Given the description of an element on the screen output the (x, y) to click on. 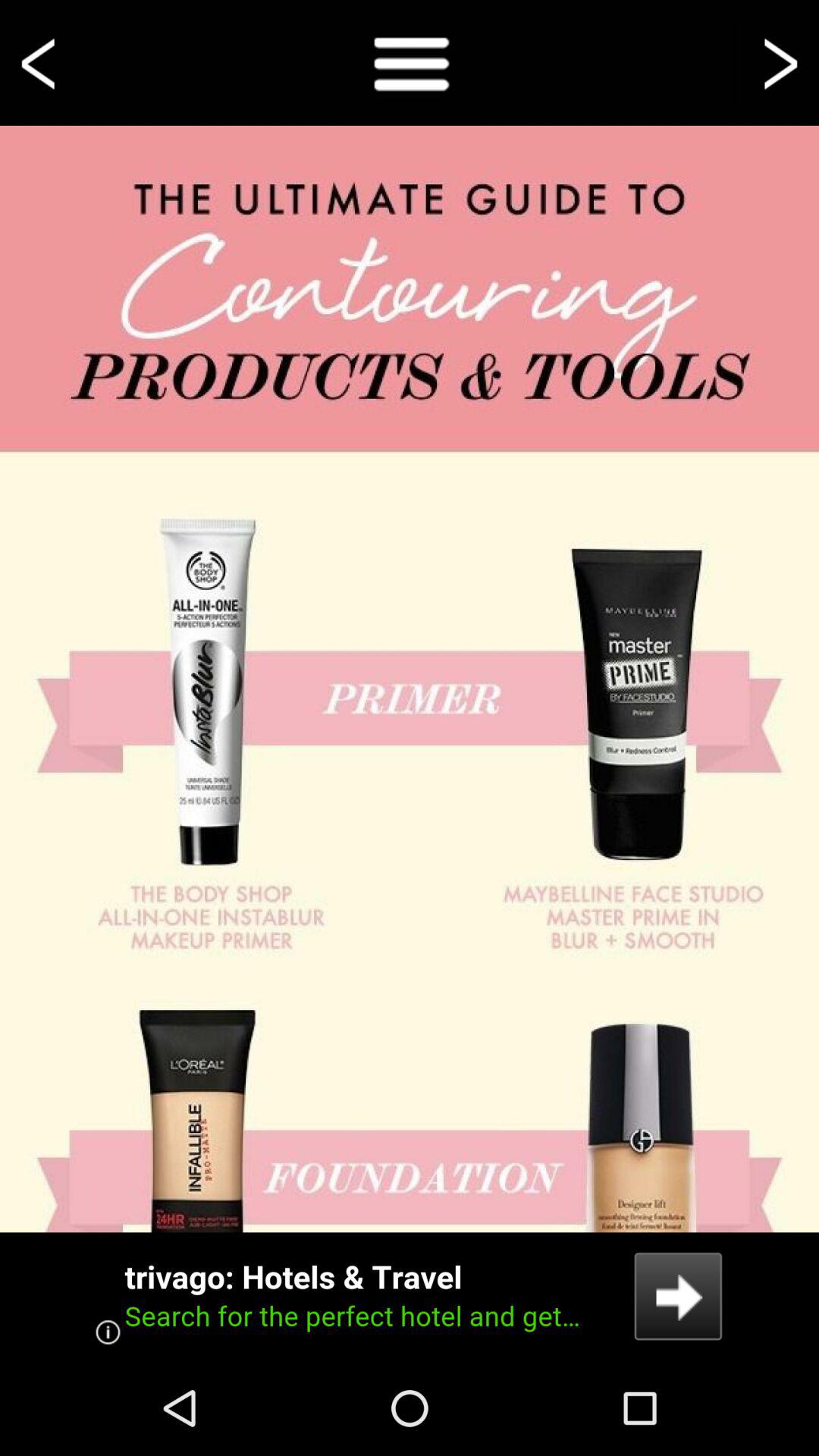
show full menu (409, 62)
